Given the description of an element on the screen output the (x, y) to click on. 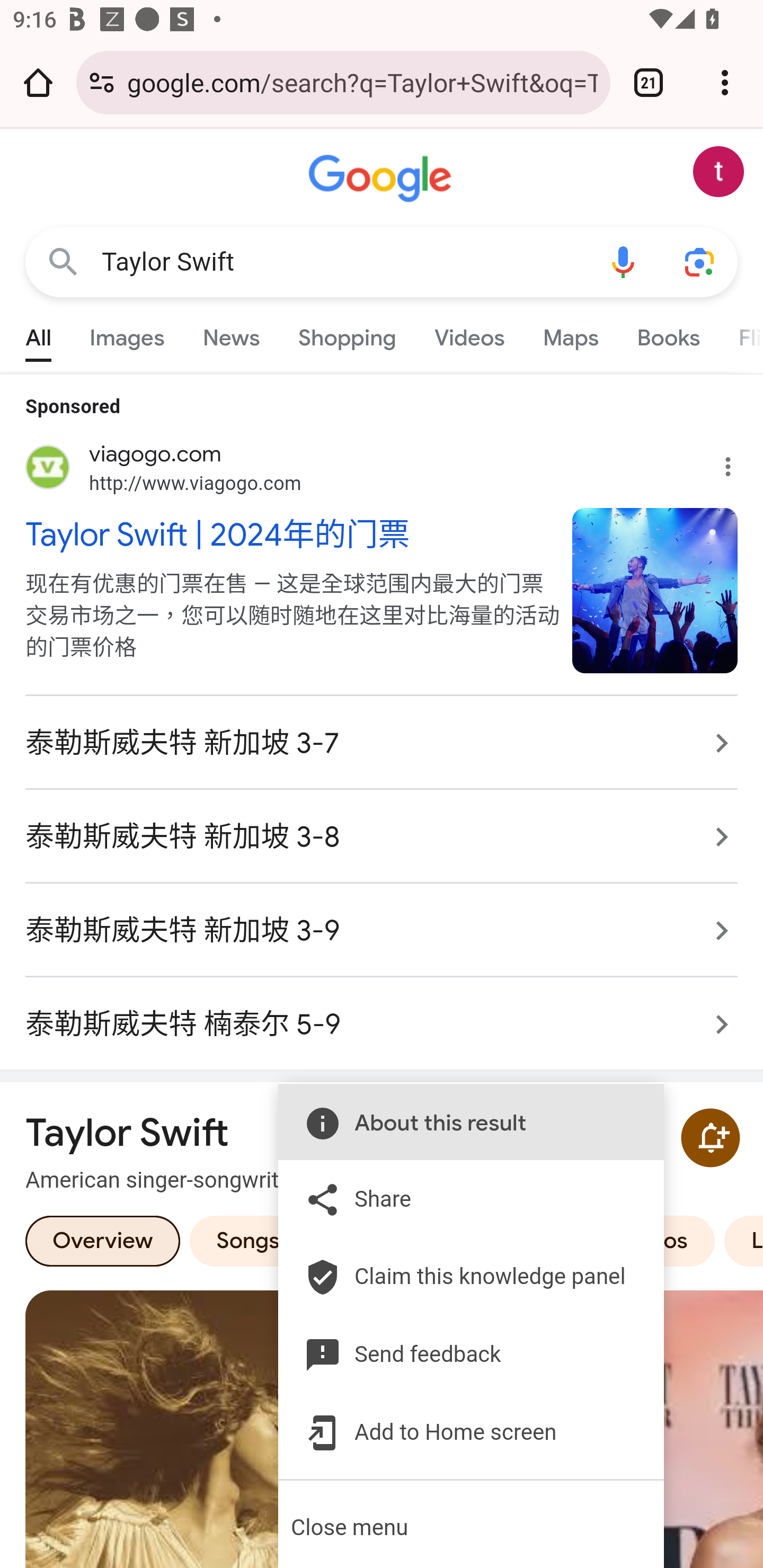
Open the home page (38, 82)
Connection is secure (101, 82)
Switch or close tabs (648, 82)
Customize and control Google Chrome (724, 82)
Google (381, 179)
Google Search (63, 262)
Search using your camera or photos (699, 262)
Taylor Swift (343, 261)
Images (127, 333)
News (231, 333)
Shopping (347, 333)
Videos (469, 333)
Maps (570, 333)
Books (668, 333)
Why this ad? (738, 462)
Image from viagogo.com (654, 590)
Taylor Swift | 2024年的门票 (289, 533)
泰勒斯威夫特 新加坡 3-7 (381, 743)
泰勒斯威夫特 新加坡 3-8 (381, 837)
泰勒斯威夫特 新加坡 3-9 (381, 930)
泰勒斯威夫特 楠泰尔 5-9 (381, 1014)
About this result (458, 1121)
Get notifications about Taylor Swift (710, 1137)
Share (458, 1199)
Overview (103, 1240)
Claim this knowledge panel (458, 1276)
Add to Home screen (458, 1432)
Close menu (471, 1527)
